Given the description of an element on the screen output the (x, y) to click on. 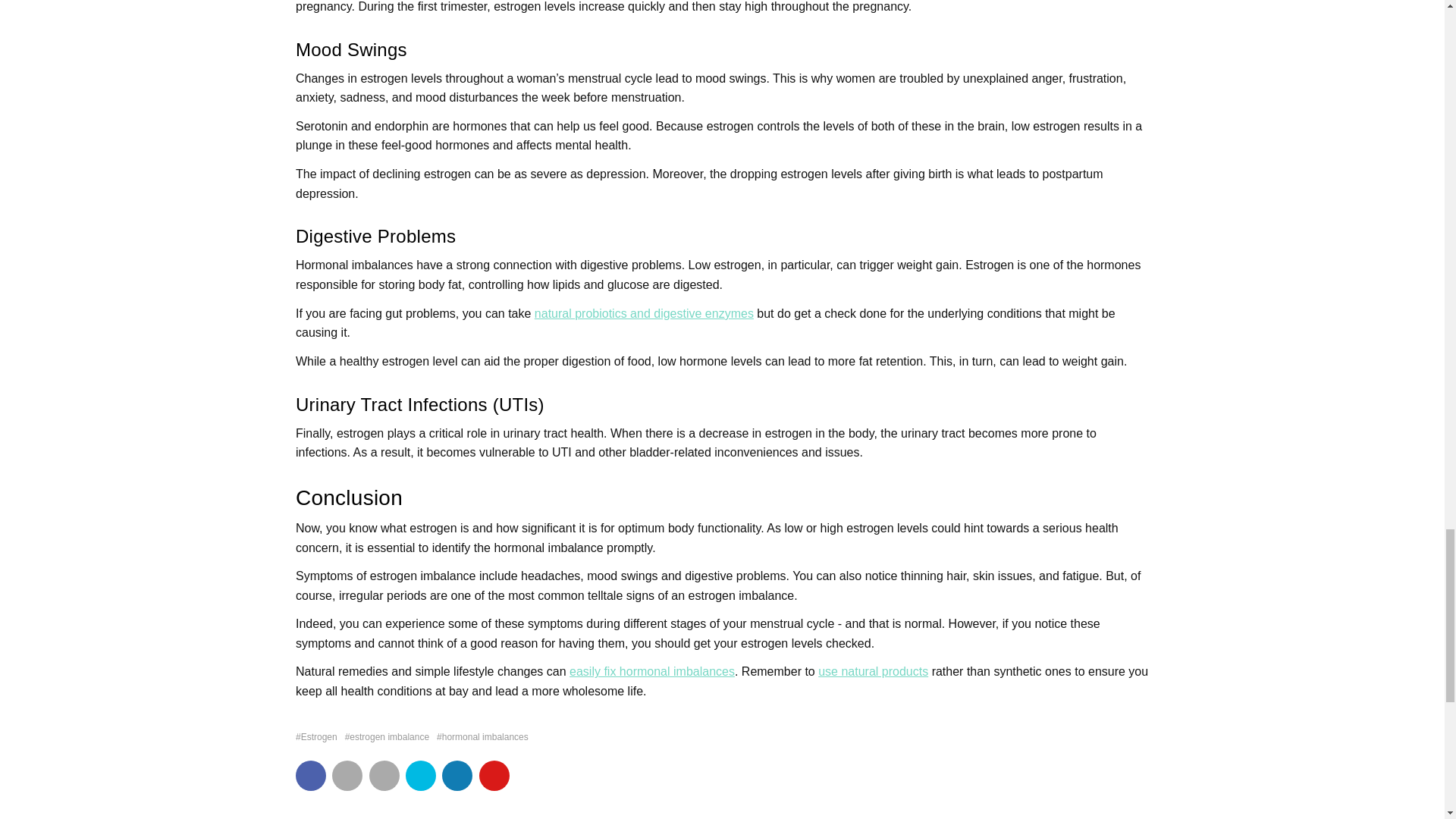
Pinterest (494, 775)
Facebook (310, 775)
Email (346, 775)
Twitter (420, 775)
Print (383, 775)
Linkedin (456, 775)
